Given the description of an element on the screen output the (x, y) to click on. 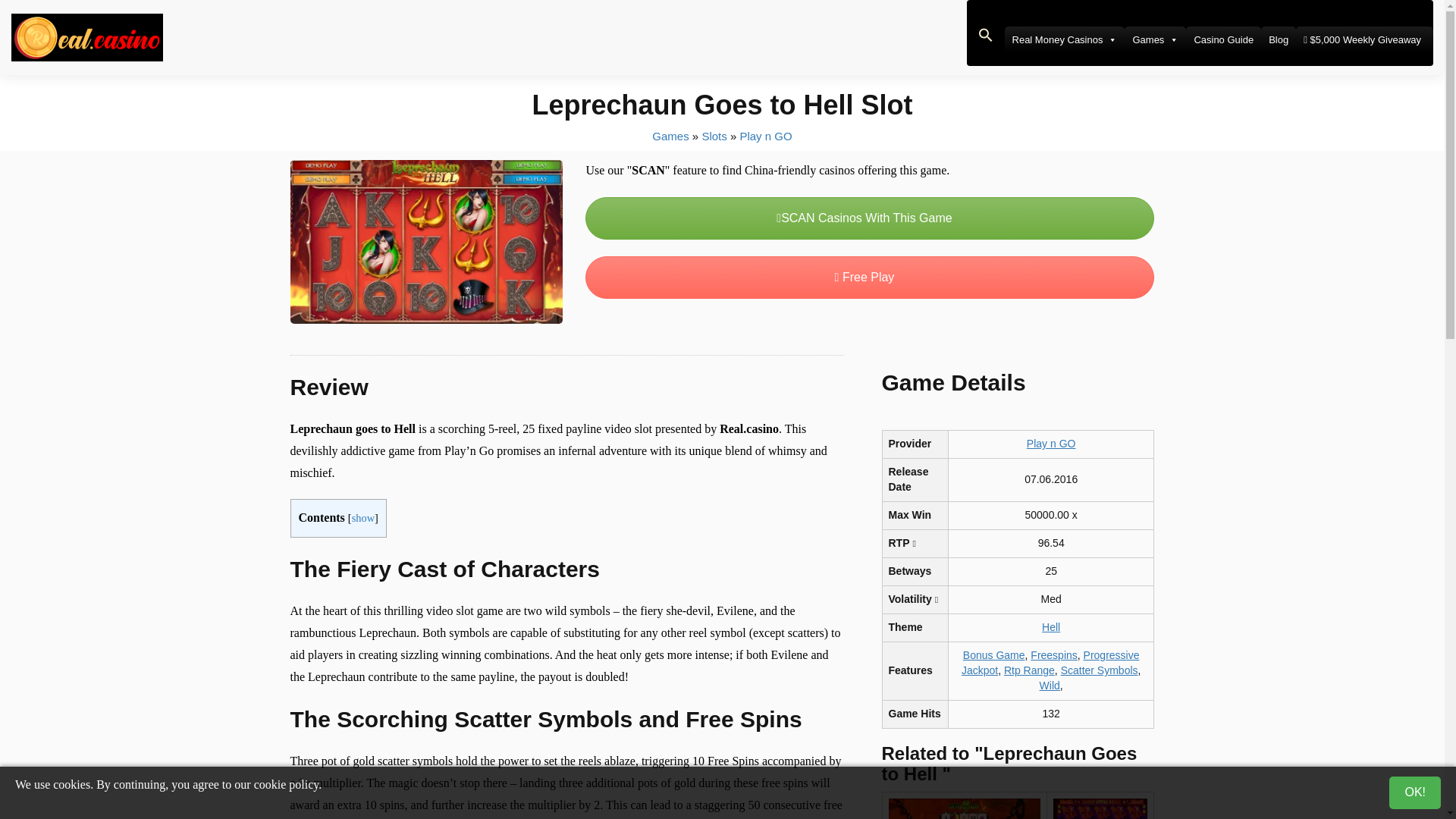
Online Slots (713, 135)
Real Money Casinos (1064, 39)
Online Casino Games (670, 135)
Games (1155, 39)
Play n GO Slots (765, 135)
